Given the description of an element on the screen output the (x, y) to click on. 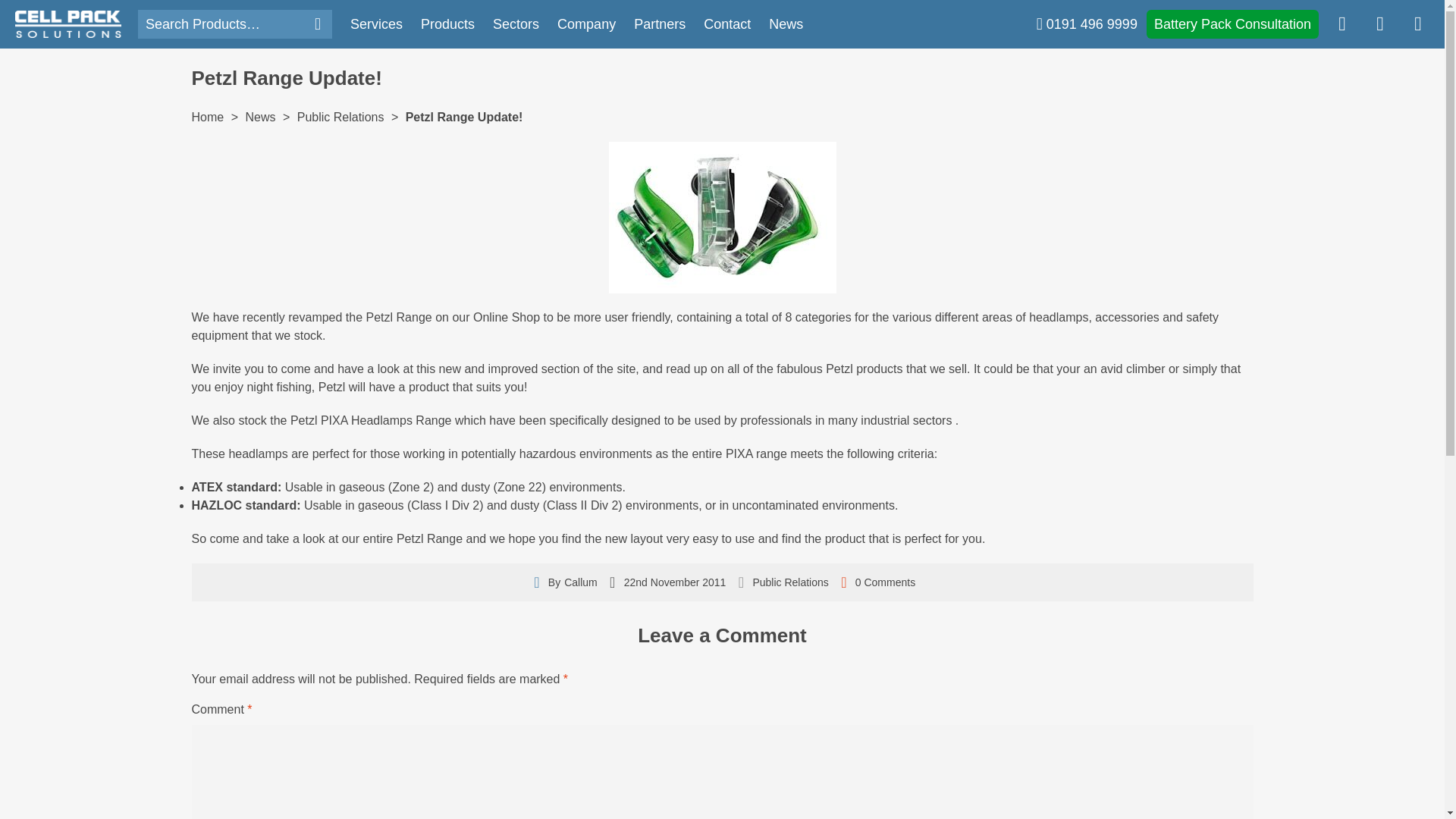
Products (447, 24)
Services (376, 24)
Posts by Callum (580, 582)
